Given the description of an element on the screen output the (x, y) to click on. 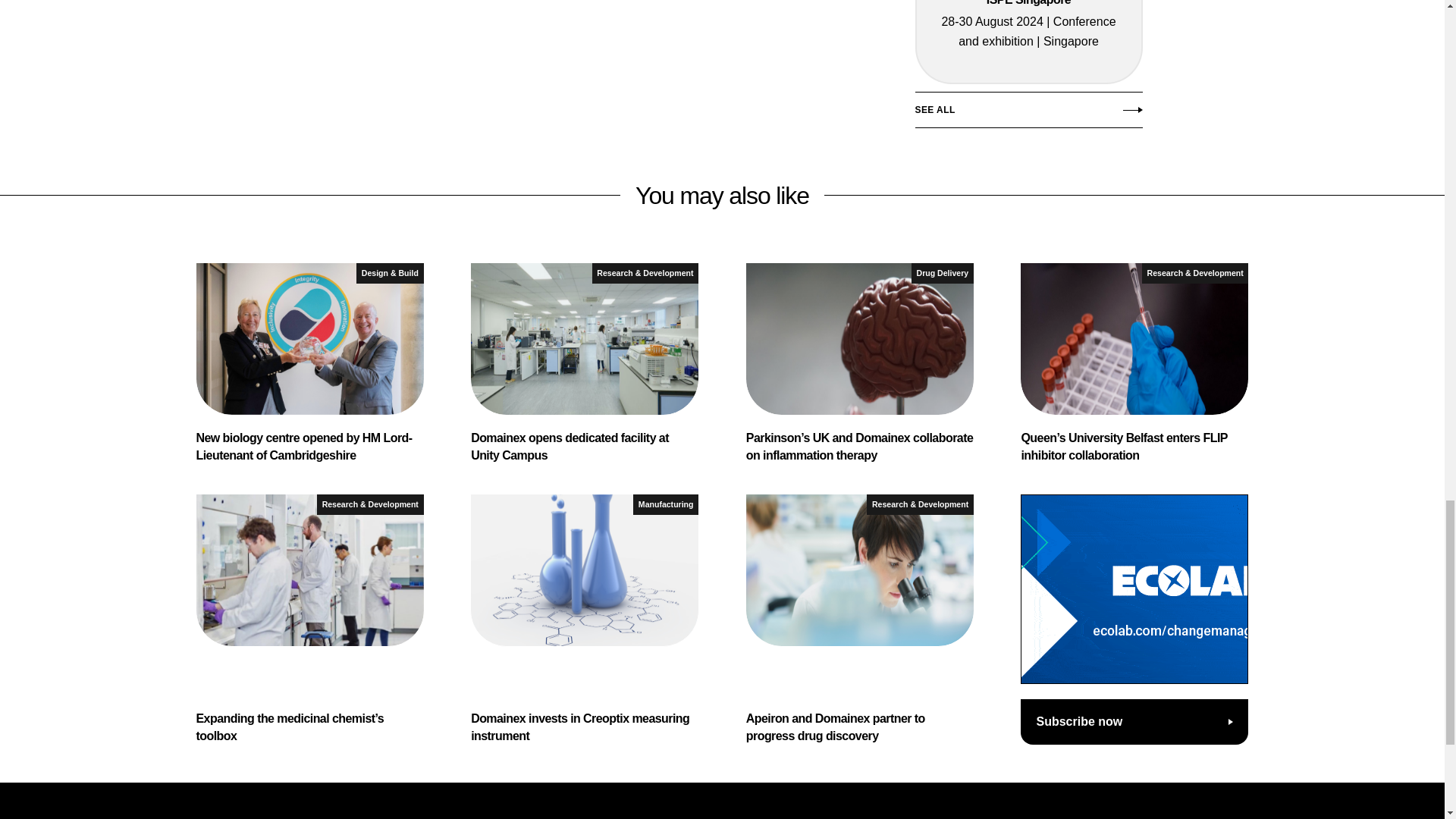
SEE ALL (1027, 113)
